Given the description of an element on the screen output the (x, y) to click on. 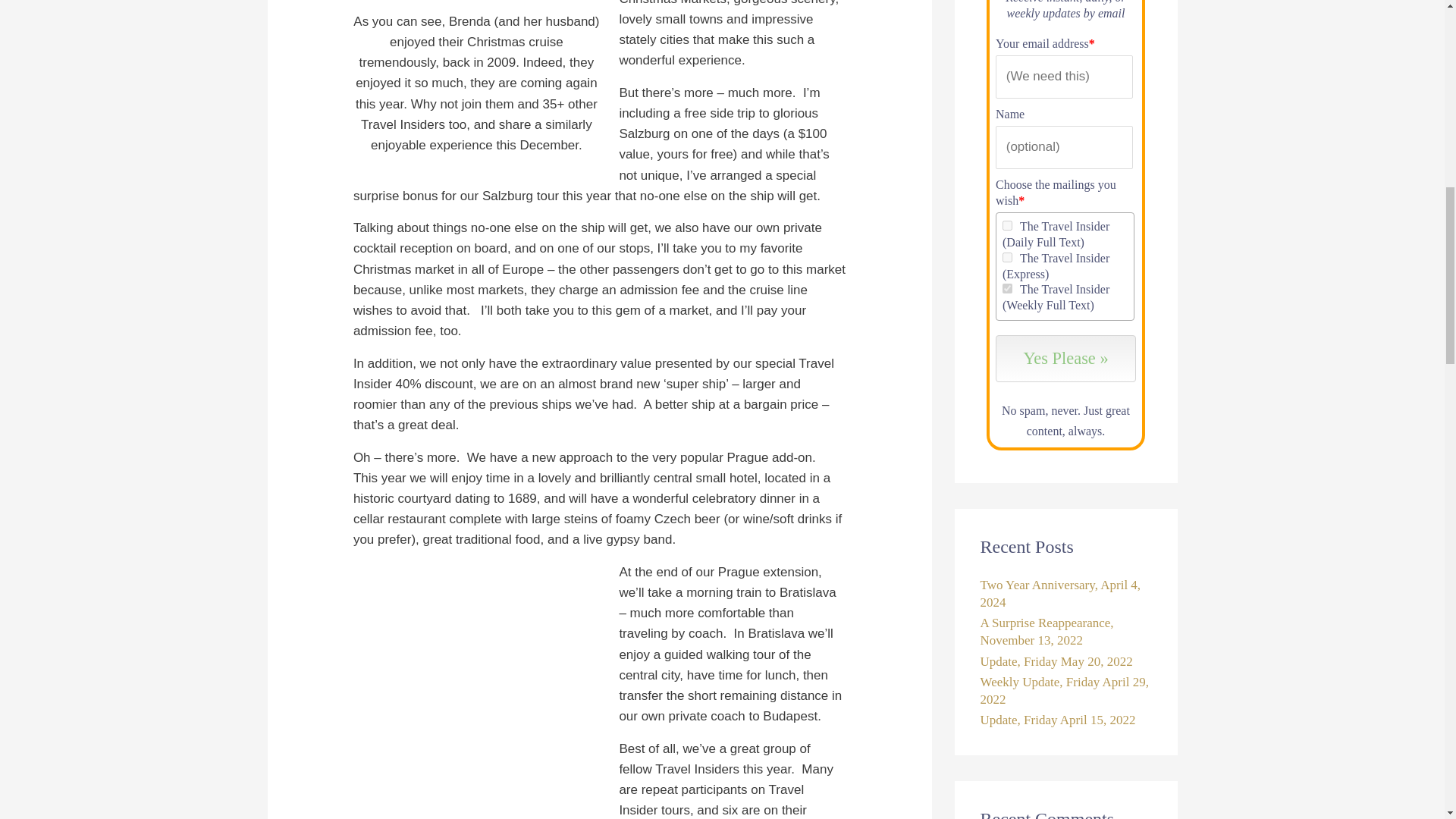
679239 (1007, 288)
692267 (1007, 225)
679245 (1007, 257)
